Given the description of an element on the screen output the (x, y) to click on. 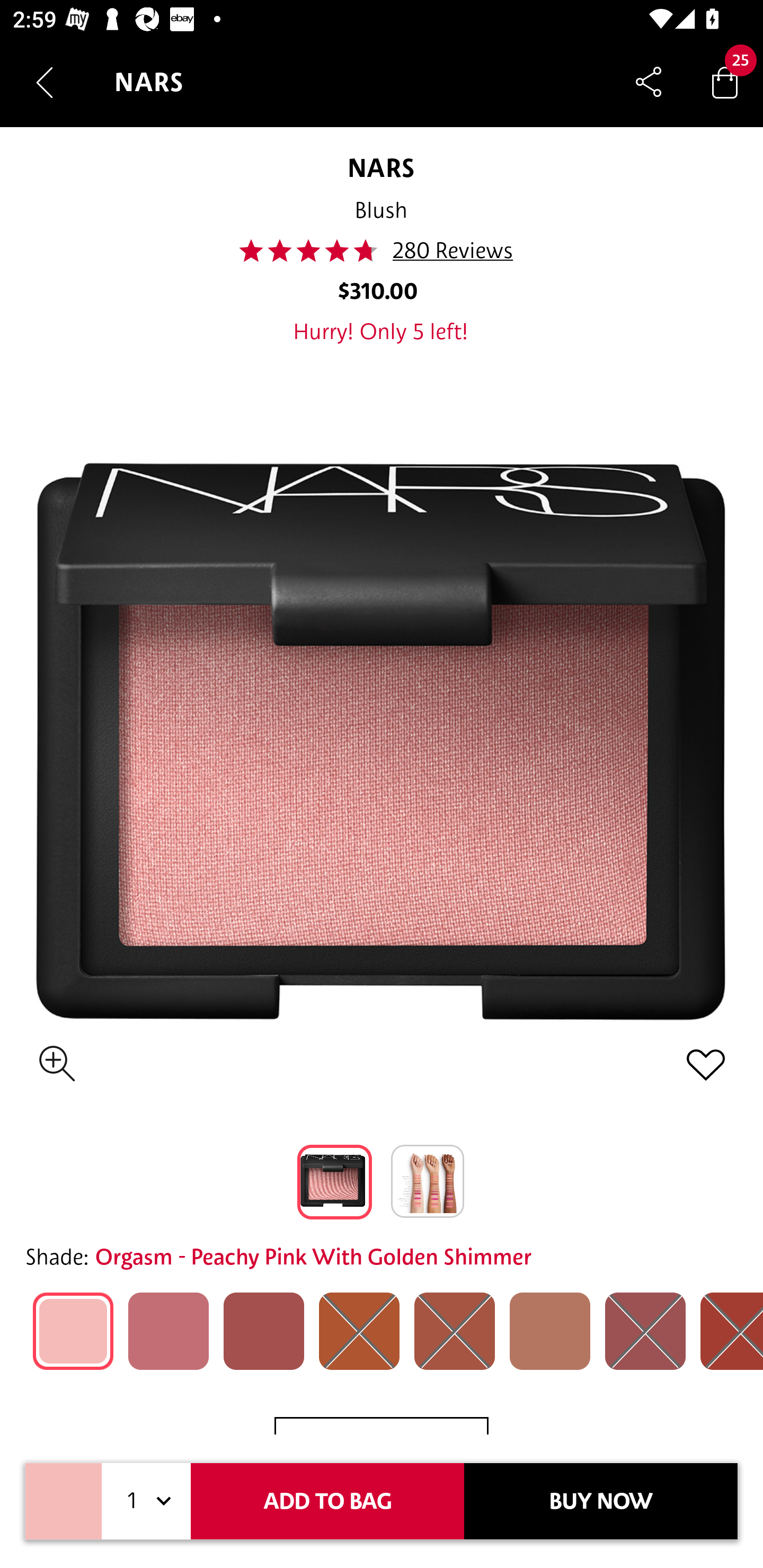
Navigate up (44, 82)
Share (648, 81)
Bag (724, 81)
NARS (380, 167)
47.0 280 Reviews (381, 250)
1 (145, 1500)
ADD TO BAG (326, 1500)
BUY NOW (600, 1500)
